Given the description of an element on the screen output the (x, y) to click on. 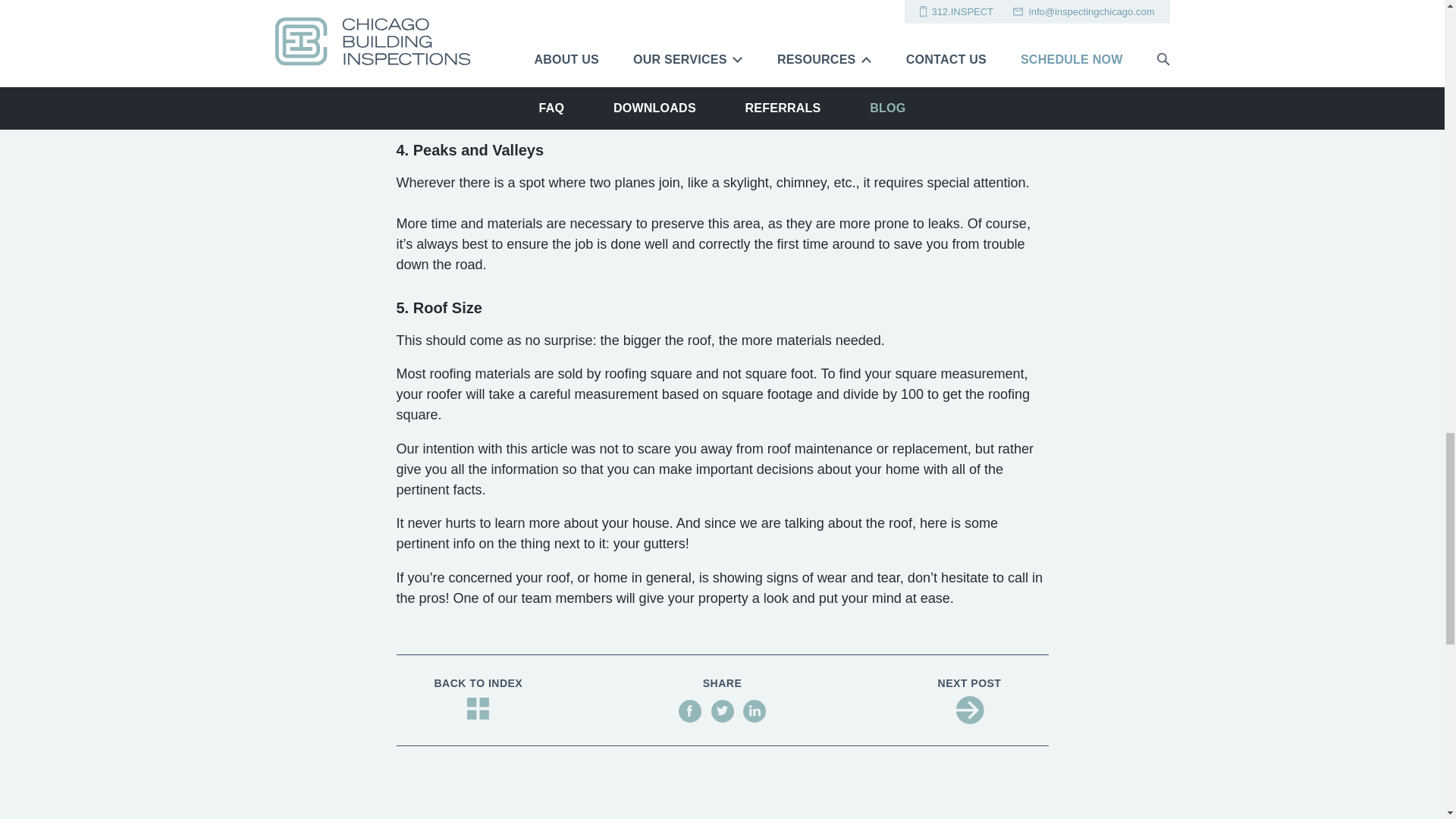
grid Created with Sketch. (478, 708)
arrow Created with Sketch. (969, 711)
arrow Created with Sketch. (969, 709)
